Given the description of an element on the screen output the (x, y) to click on. 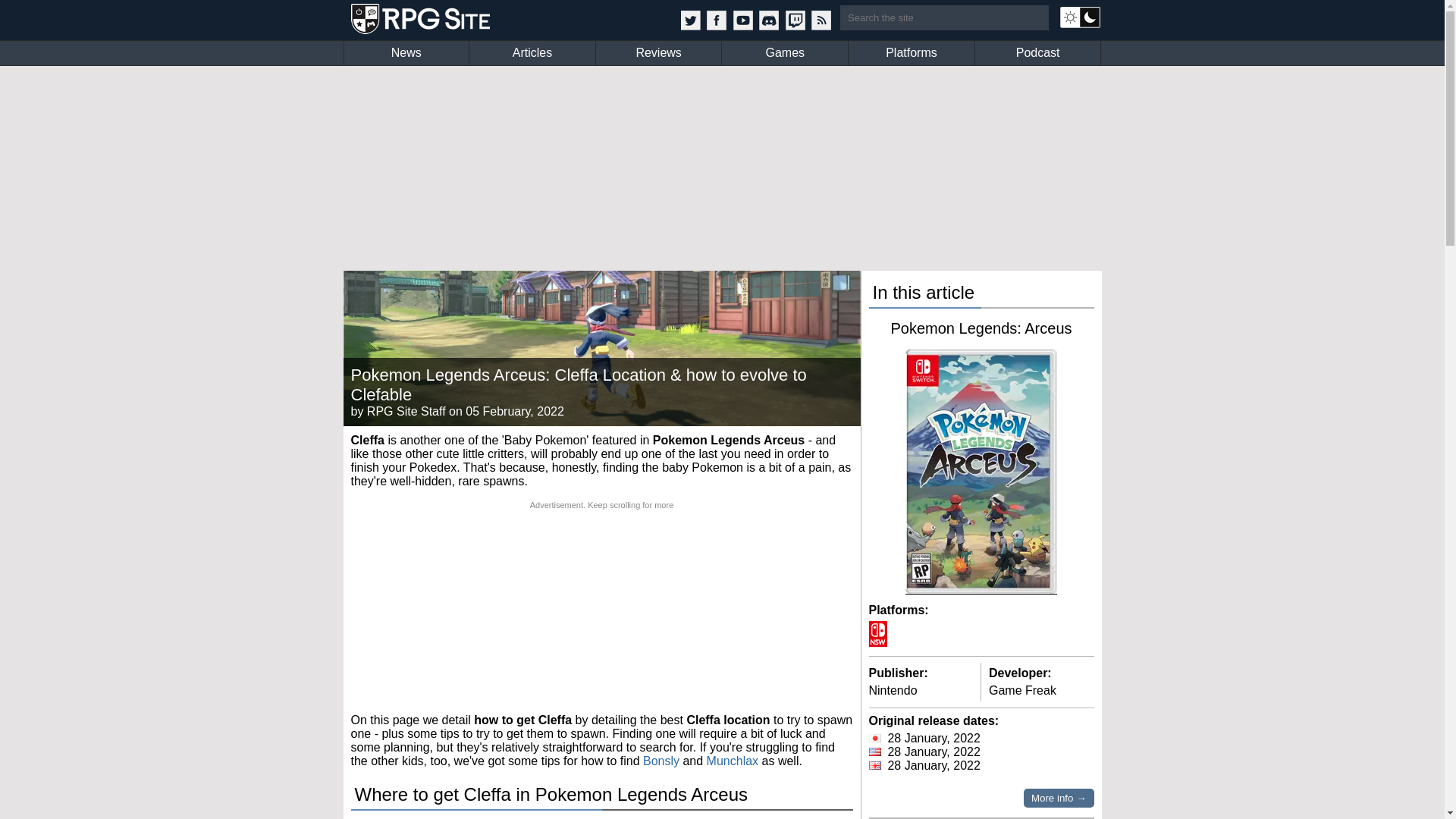
Articles (531, 52)
Pokemon Legends: Arceus (980, 328)
RPG Site Staff (405, 410)
Games (784, 52)
Bonsly (661, 760)
Podcast (1037, 52)
News (405, 52)
Platforms (911, 52)
Reviews (658, 52)
Munchlax (732, 760)
